Given the description of an element on the screen output the (x, y) to click on. 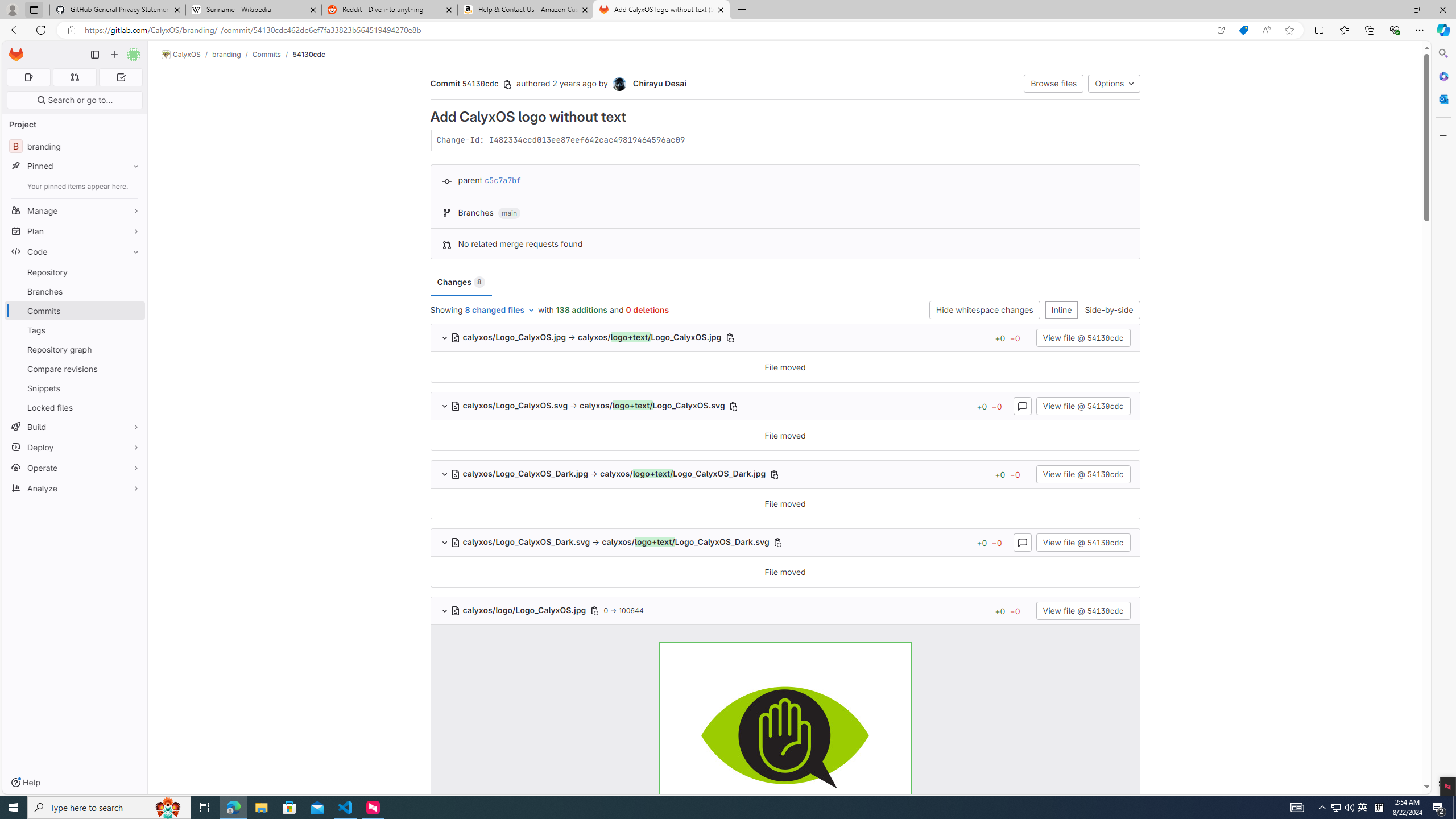
Suriname - Wikipedia (253, 9)
Repository (74, 271)
Analyze (74, 488)
Branches (74, 290)
Side-by-side (1108, 309)
Hide whitespace changes (983, 309)
Toggle comments for this file (1022, 542)
Locked files (74, 407)
